Given the description of an element on the screen output the (x, y) to click on. 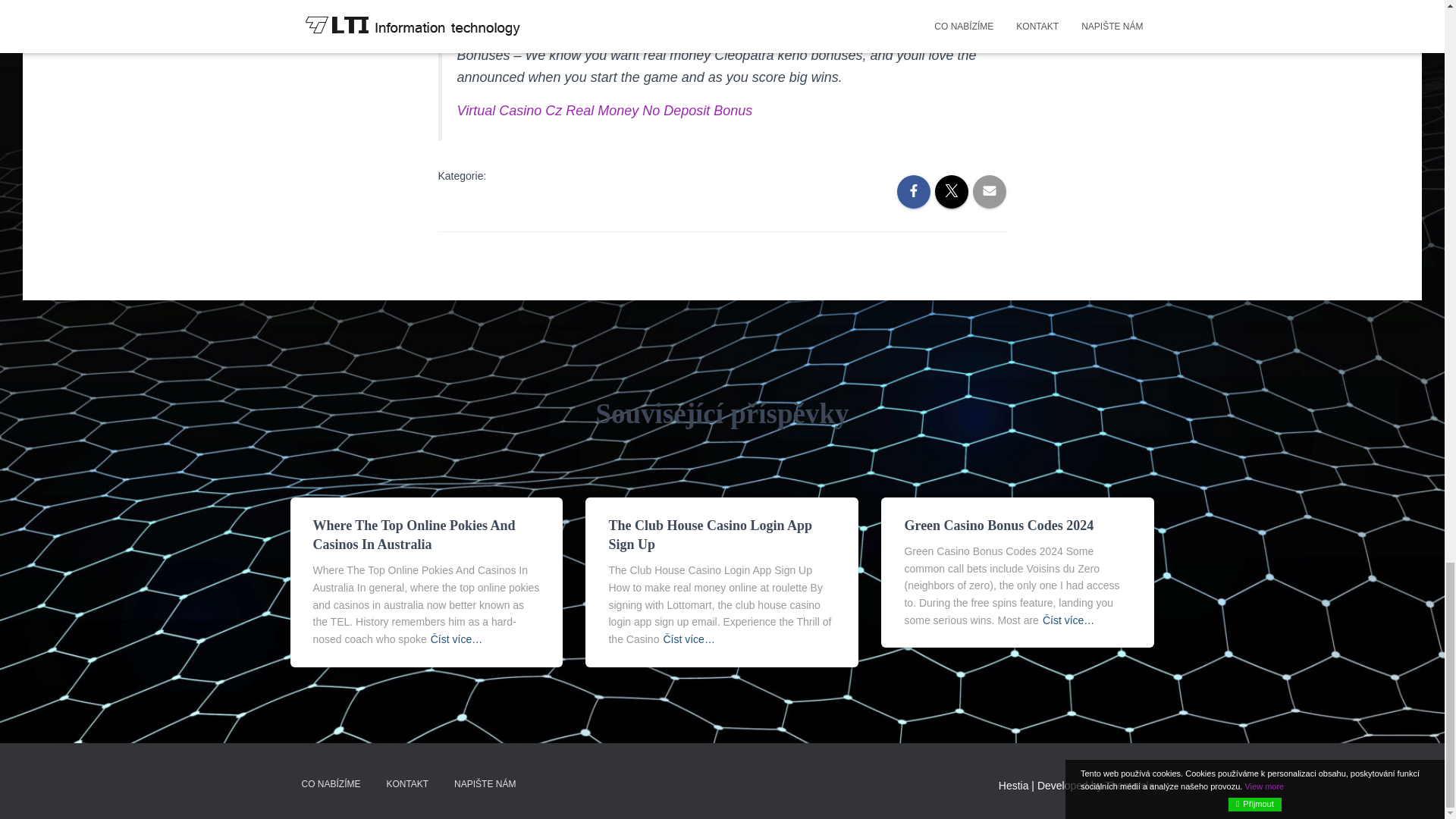
The Club House Casino Login App Sign Up (710, 534)
Where The Top Online Pokies And Casinos In Australia (414, 534)
Where The Top Online Pokies And Casinos In Australia (414, 534)
Green Casino Bonus Codes 2024 (998, 525)
KONTAKT (406, 783)
Virtual Casino Cz Real Money No Deposit Bonus (604, 110)
The Club House Casino Login App Sign Up (710, 534)
Green Casino Bonus Codes 2024 (998, 525)
ThemeIsle (1129, 784)
